Given the description of an element on the screen output the (x, y) to click on. 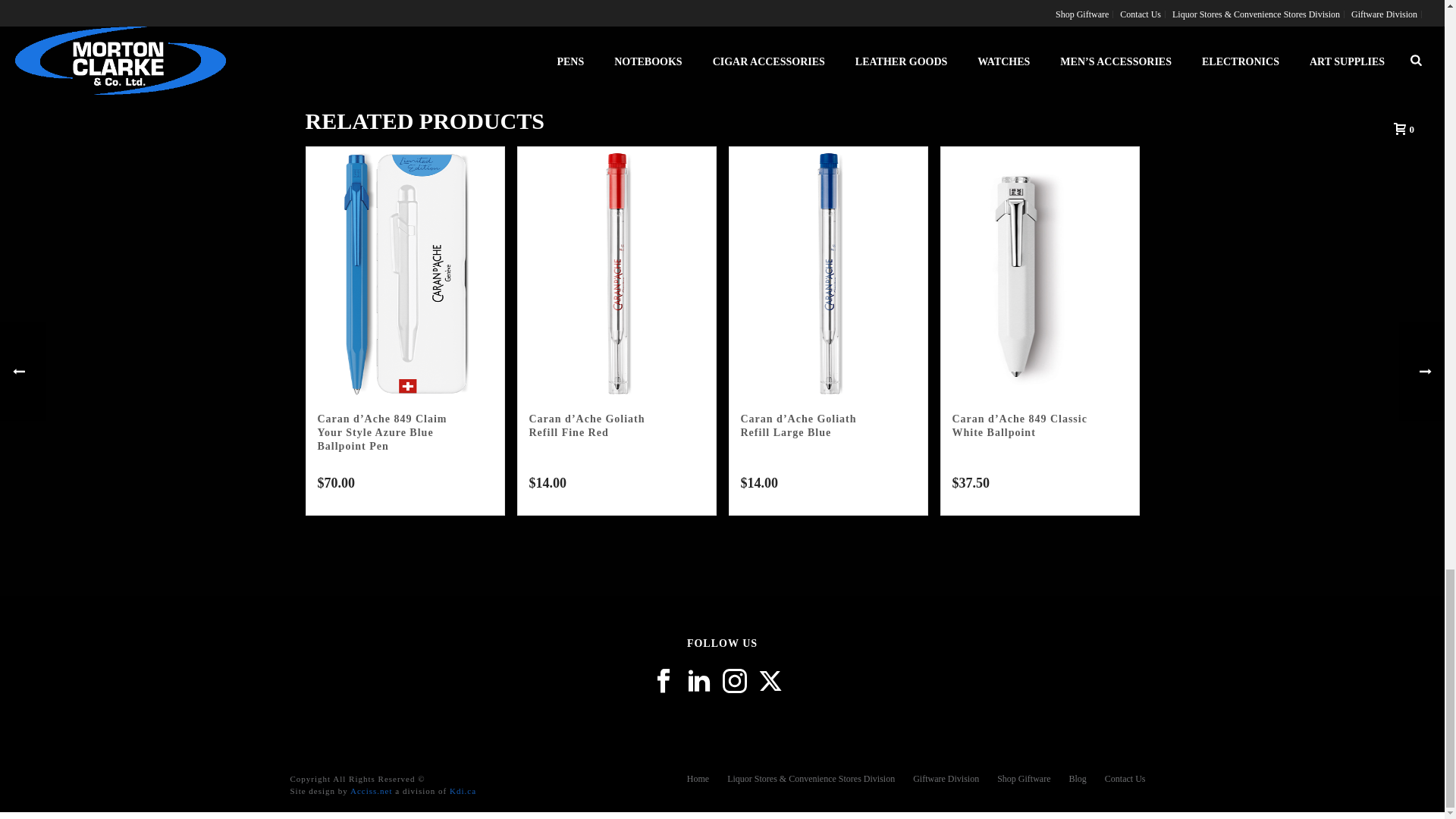
Follow Us on facebook (662, 682)
